Given the description of an element on the screen output the (x, y) to click on. 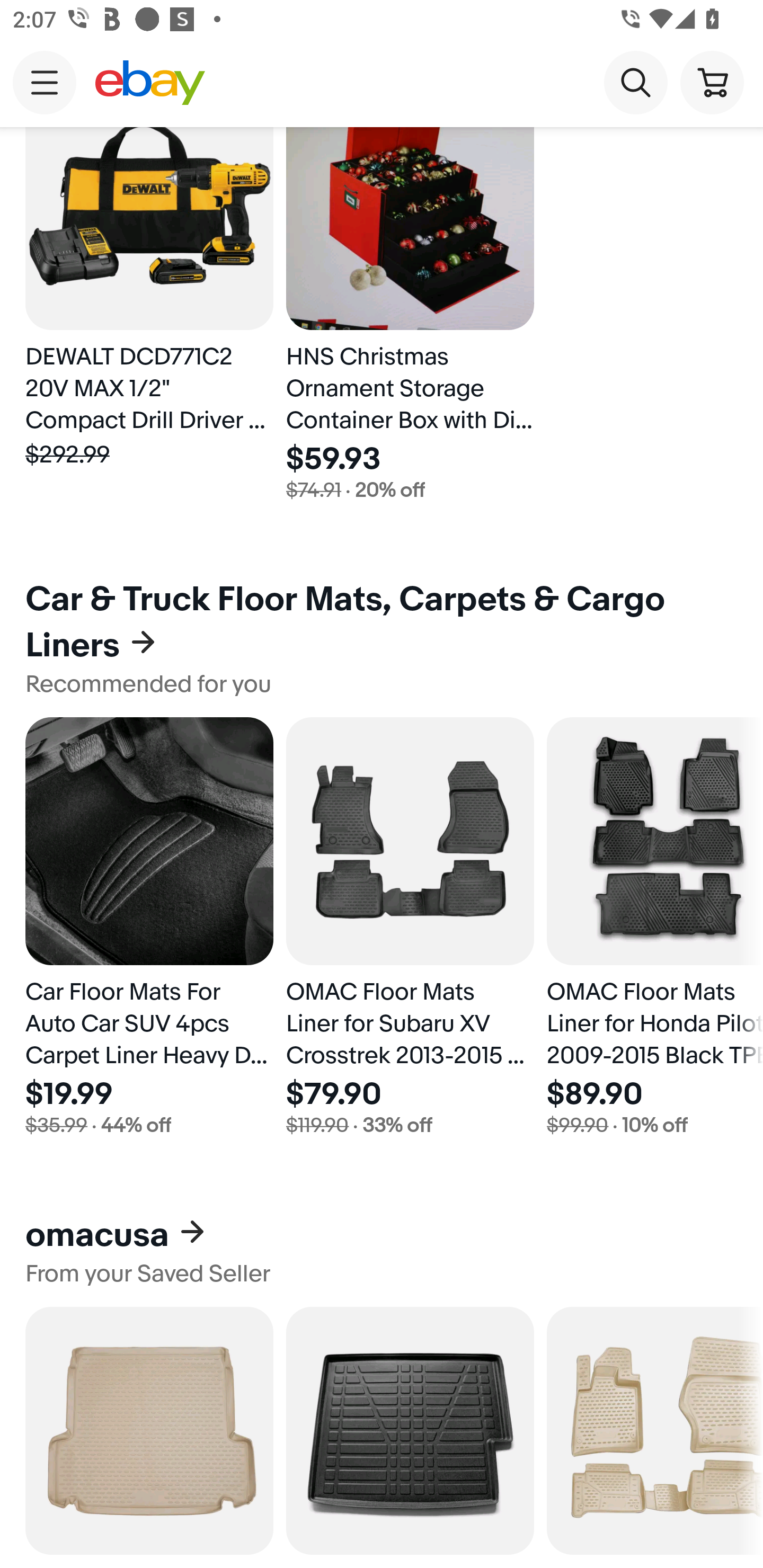
Main navigation, open (44, 82)
Search (635, 81)
Cart button shopping cart (711, 81)
omacusa   From your Saved Seller (381, 1250)
